Given the description of an element on the screen output the (x, y) to click on. 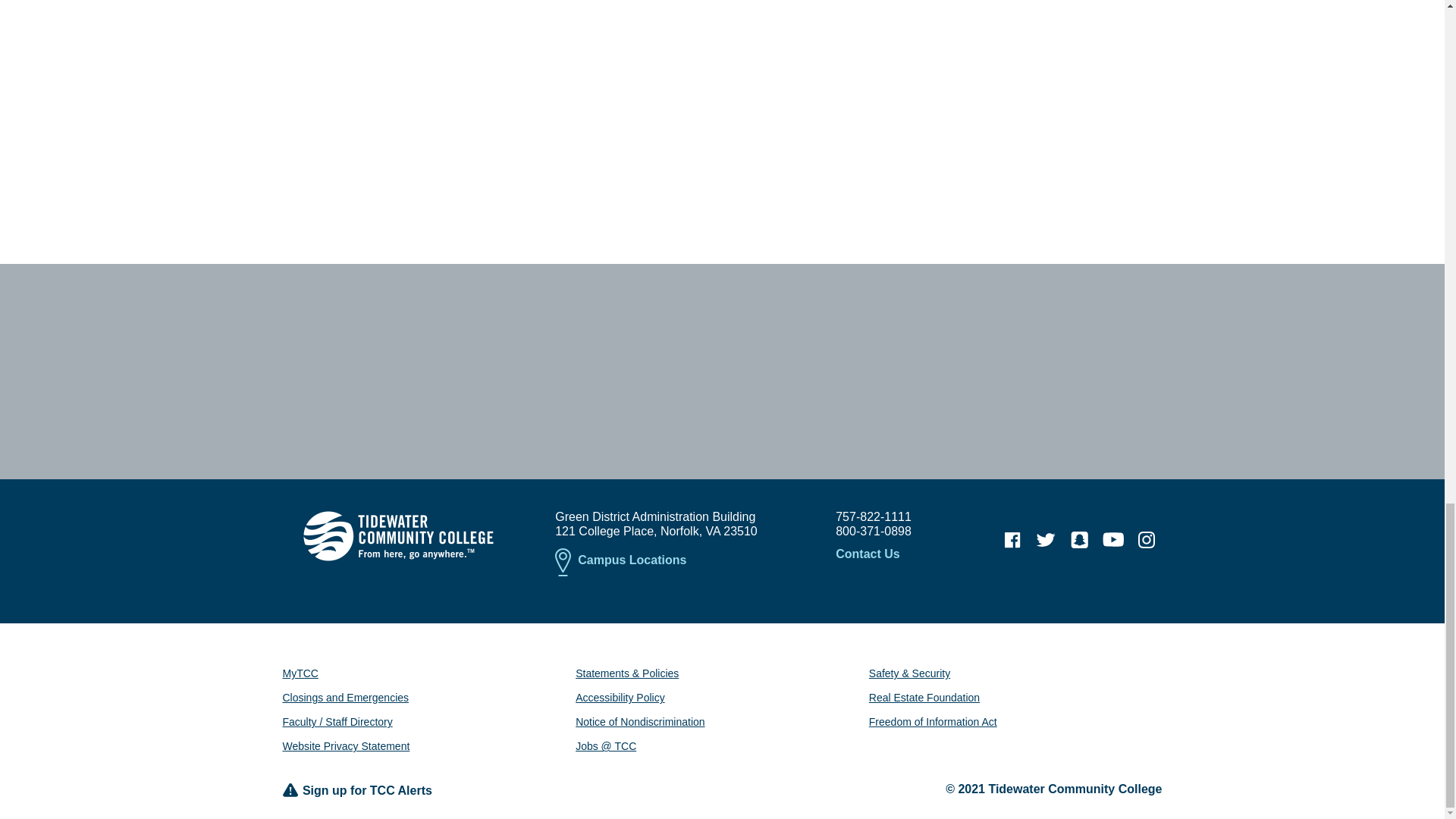
TCC on YouTube (1112, 539)
TCC on Facebook (1012, 539)
TCC on Twitter (1045, 539)
TCC on Instagram (1146, 539)
Tidewater Community College (398, 535)
TCC on Snapchat (1079, 539)
